Given the description of an element on the screen output the (x, y) to click on. 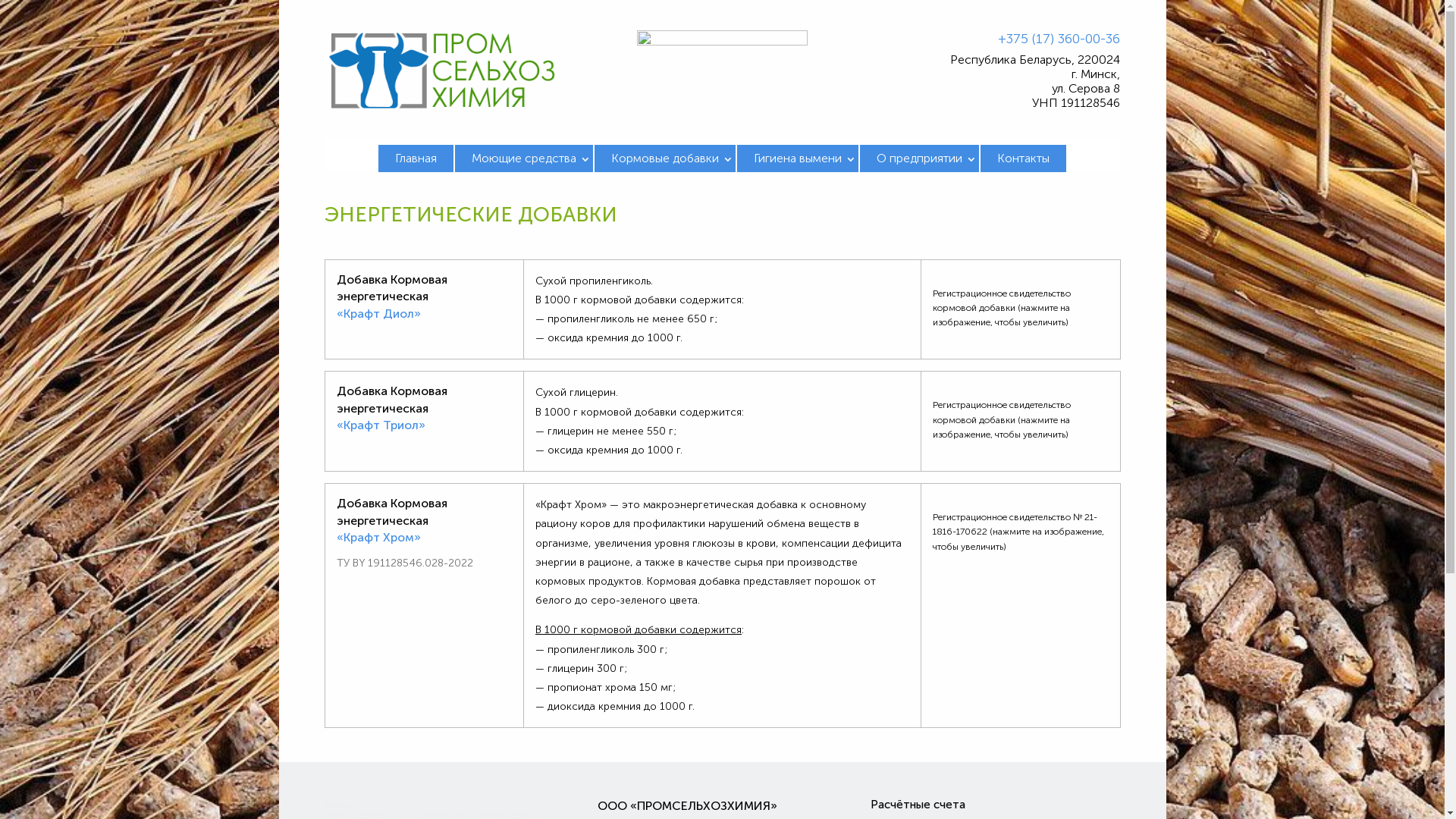
logo3srcsetlarge_srcset-large Element type: hover (442, 69)
ujhpiu (1) Element type: hover (722, 68)
+375 (17) 360-00-36 Element type: text (1058, 38)
